Given the description of an element on the screen output the (x, y) to click on. 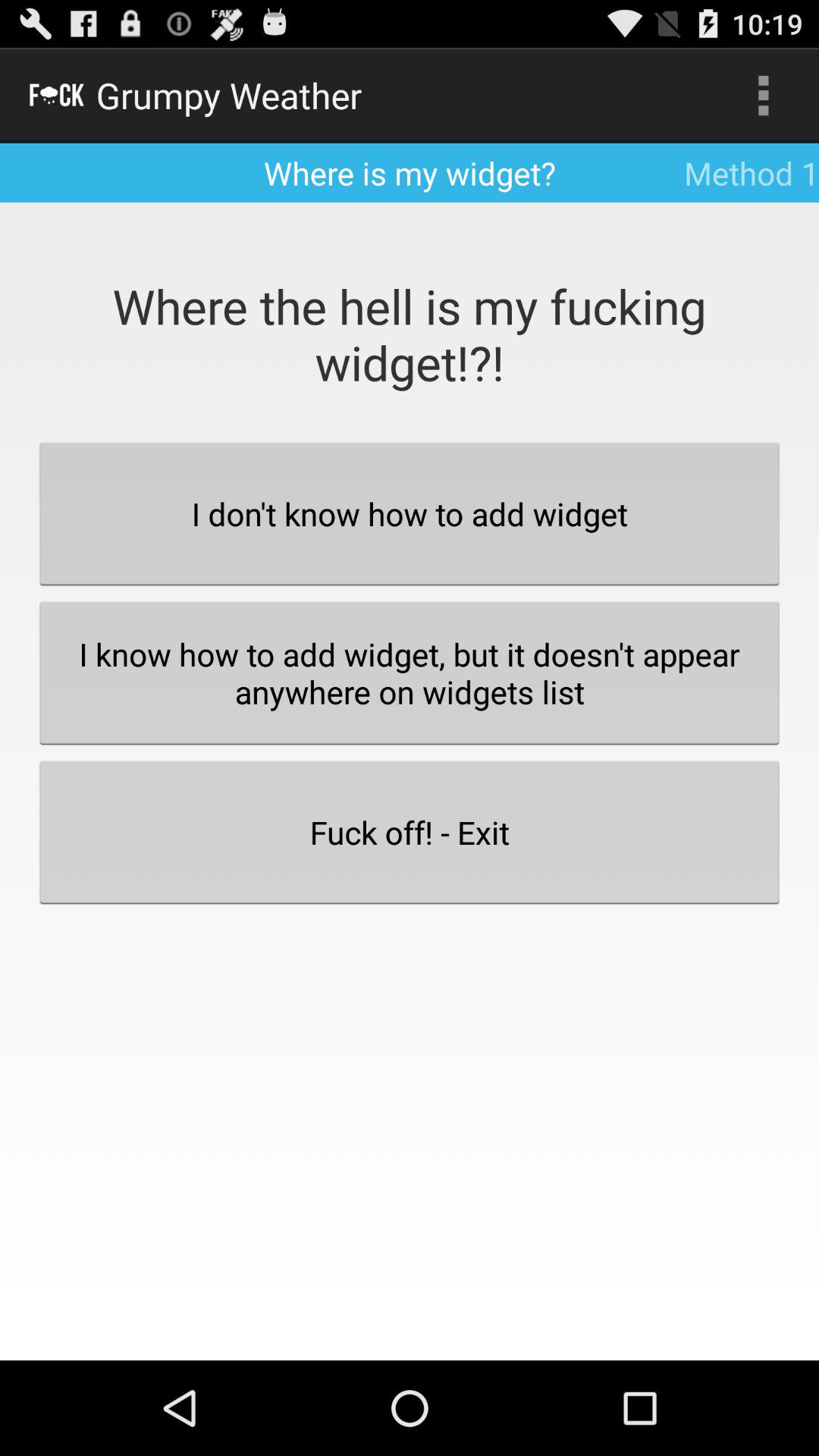
press the fuck off! - exit (409, 831)
